Given the description of an element on the screen output the (x, y) to click on. 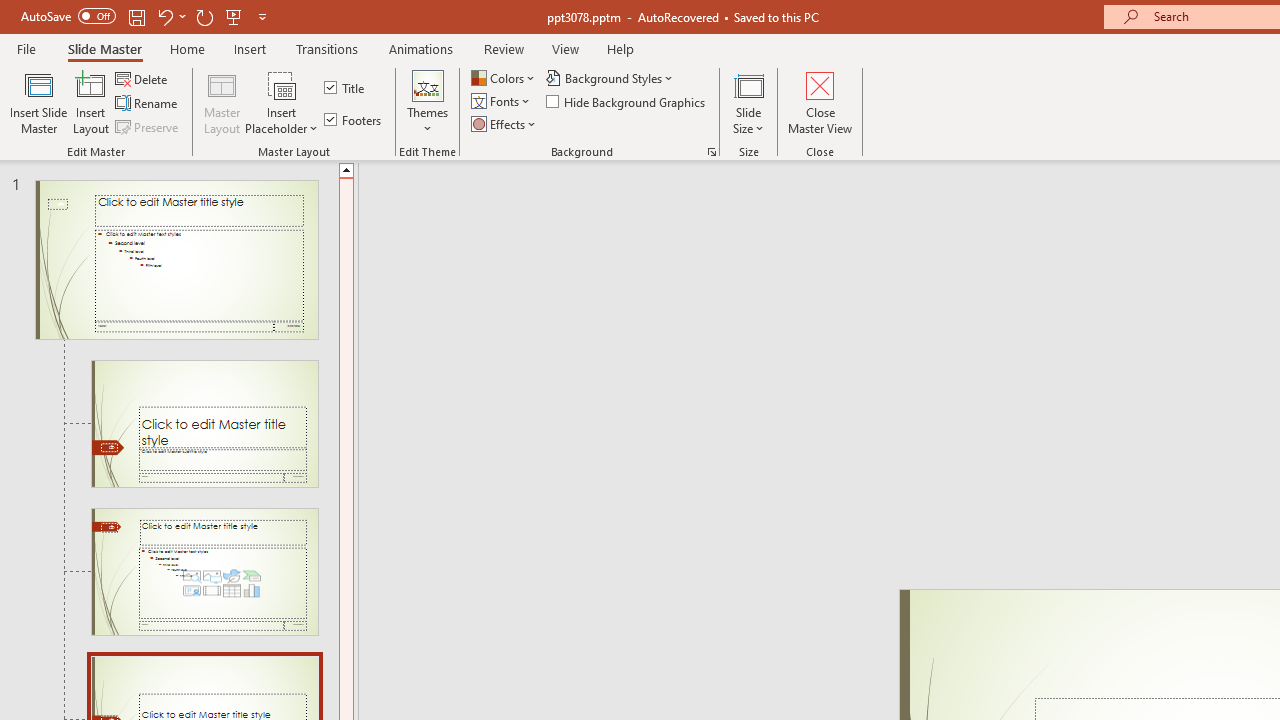
Close Master View (820, 102)
Rename (148, 103)
Insert Layout (91, 102)
Insert Slide Master (38, 102)
Background Styles (610, 78)
Colors (504, 78)
Format Background... (711, 151)
Preserve (148, 126)
